Given the description of an element on the screen output the (x, y) to click on. 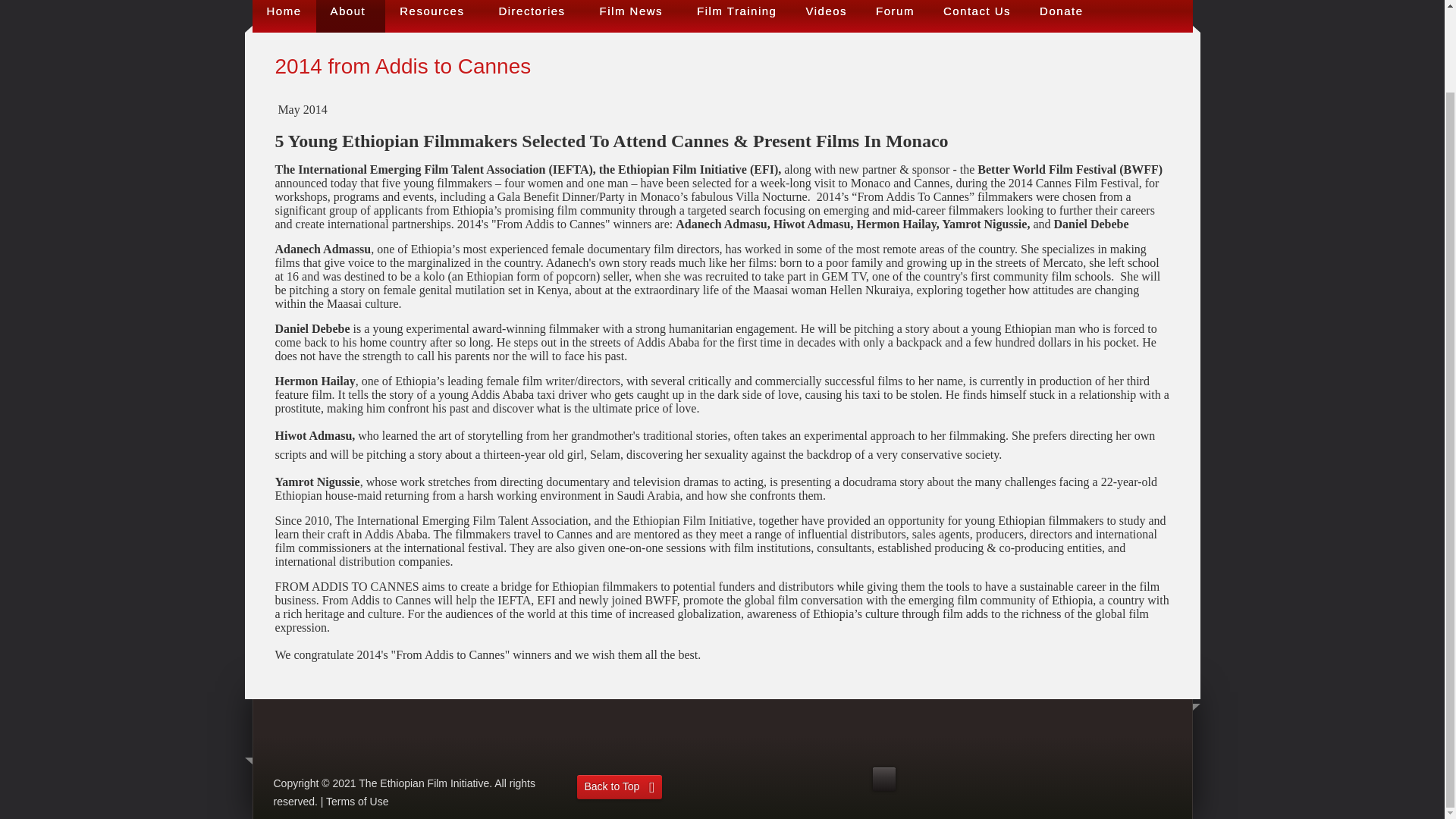
Home (283, 16)
Resources (434, 16)
About (350, 16)
Directories (534, 16)
